Given the description of an element on the screen output the (x, y) to click on. 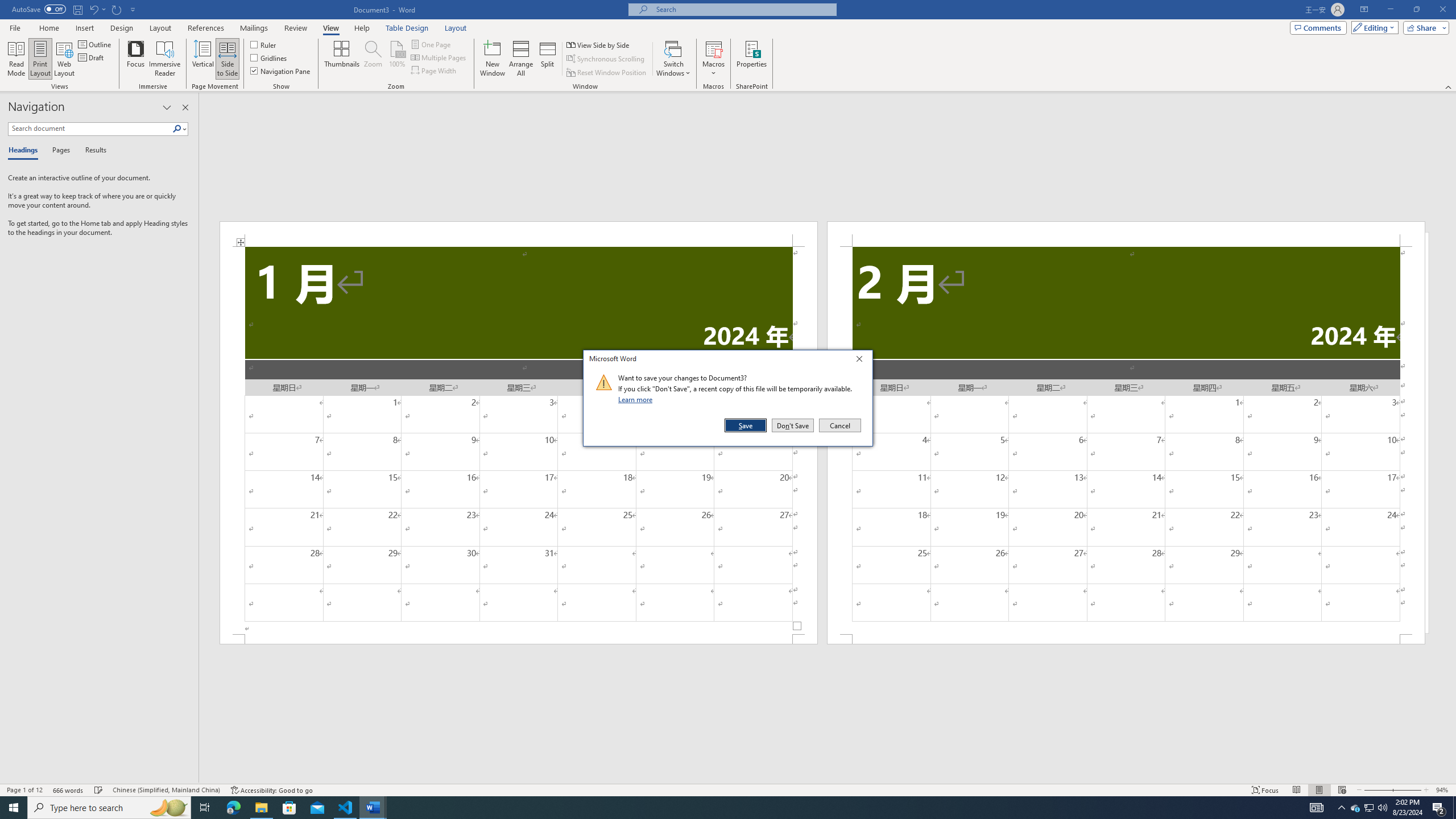
Word Count 666 words (68, 790)
Ruler (263, 44)
Focus (135, 58)
Word - 2 running windows (373, 807)
View Macros (713, 48)
Zoom... (372, 58)
